Given the description of an element on the screen output the (x, y) to click on. 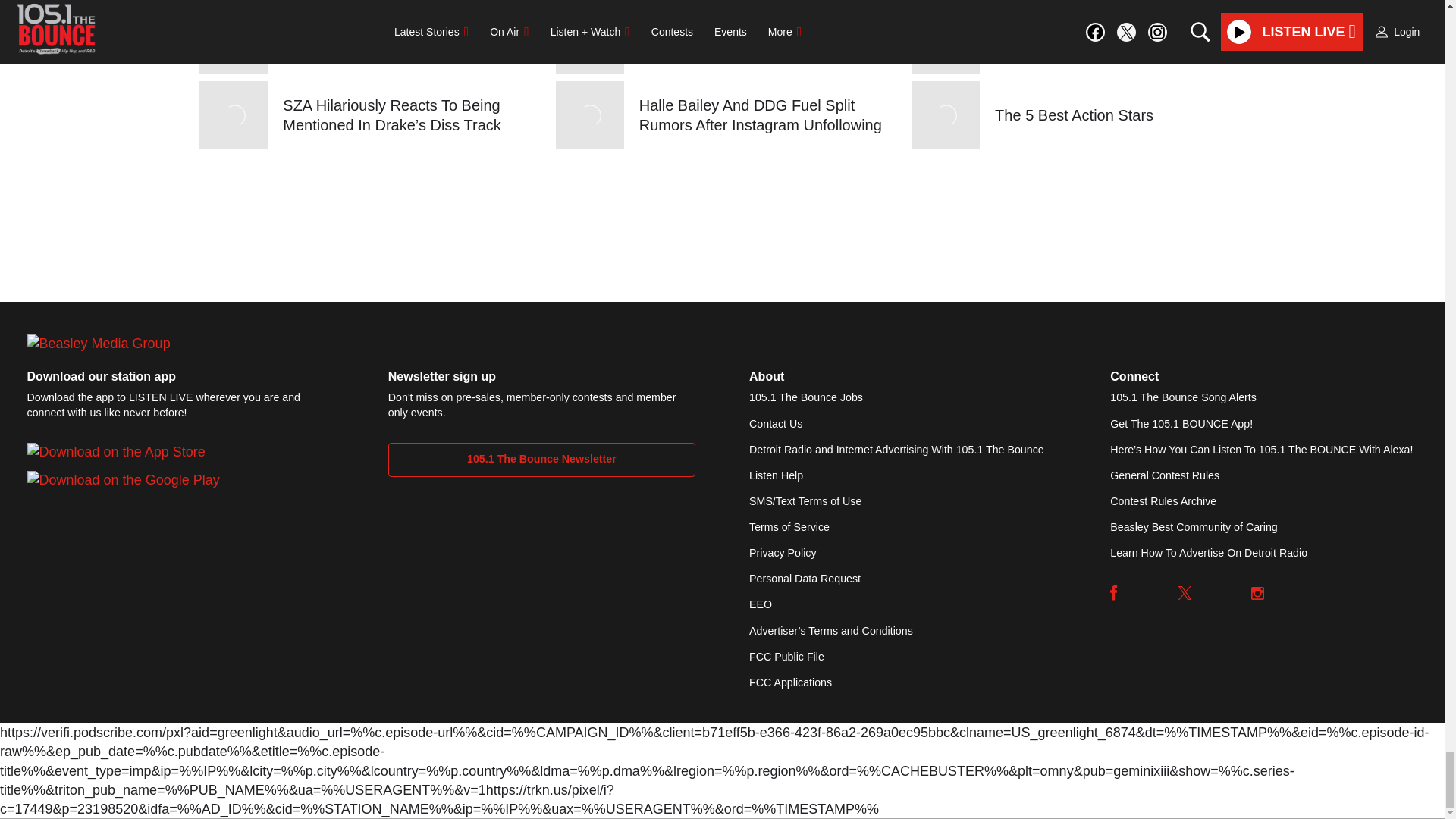
Twitter (1184, 592)
Instagram (1256, 592)
